Given the description of an element on the screen output the (x, y) to click on. 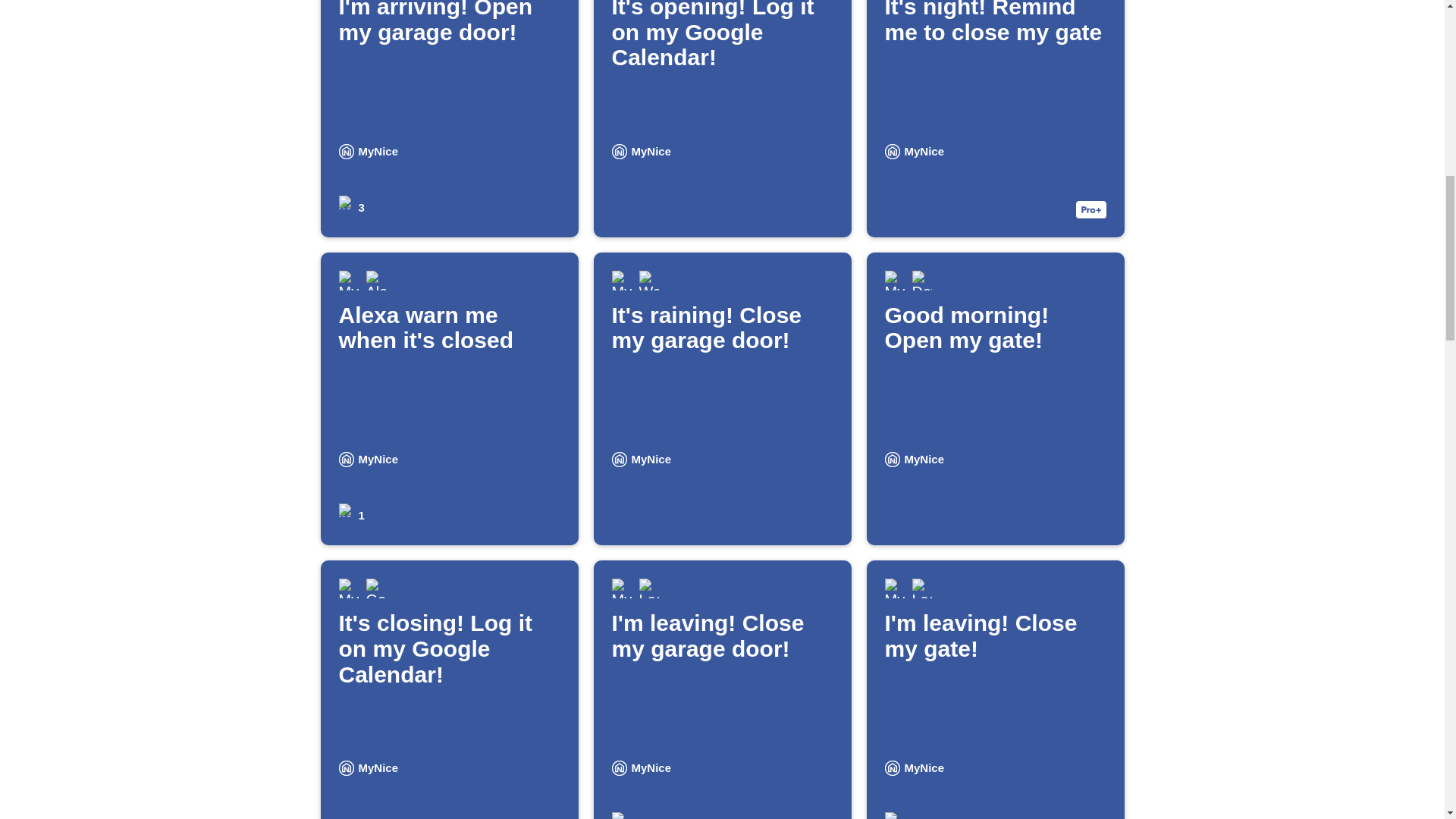
MyNice (721, 118)
3 users enabled this Applet (345, 151)
